Given the description of an element on the screen output the (x, y) to click on. 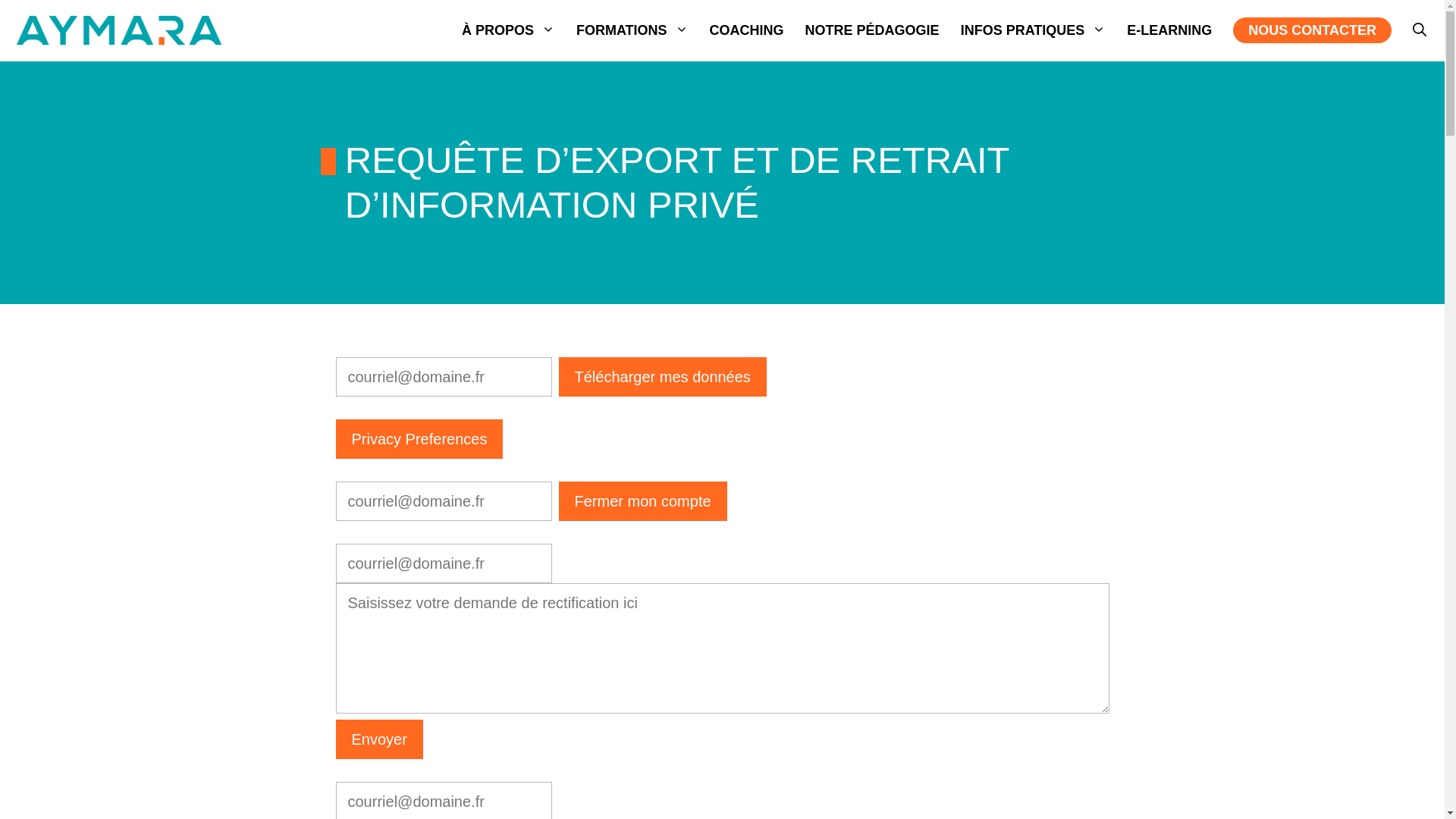
Fermer mon compte Element type: text (642, 500)
Privacy Preferences Element type: text (418, 438)
Envoyer Element type: text (378, 739)
E-LEARNING Element type: text (1169, 30)
Aymara Formations Element type: hover (118, 30)
INFOS PRATIQUES Element type: text (1033, 30)
NOUS CONTACTER Element type: text (1312, 30)
FORMATIONS Element type: text (632, 30)
COACHING Element type: text (746, 30)
